Given the description of an element on the screen output the (x, y) to click on. 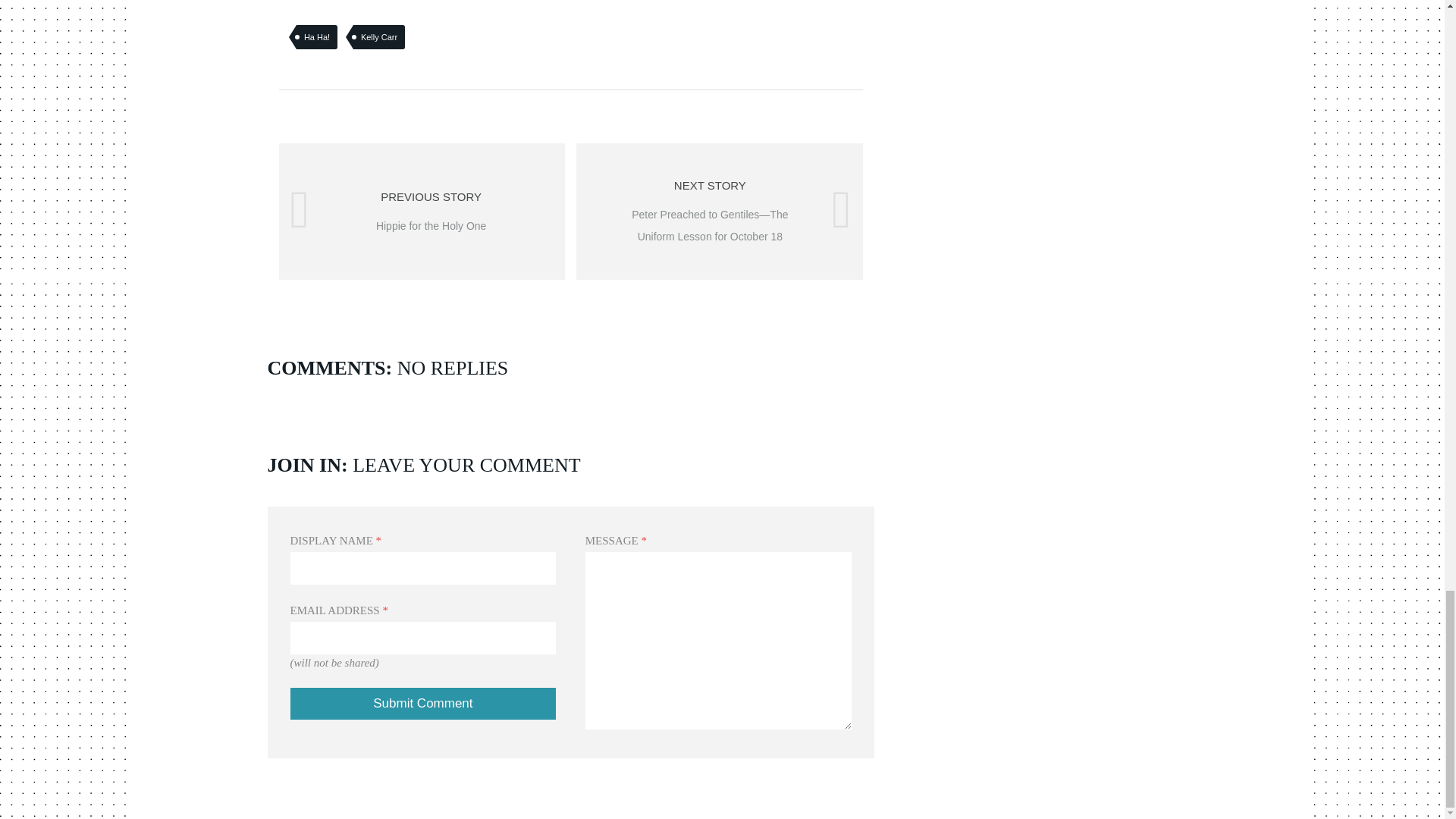
Submit Comment (421, 211)
Ha Ha! (422, 703)
Submit Comment (317, 37)
Kelly Carr (422, 703)
